Given the description of an element on the screen output the (x, y) to click on. 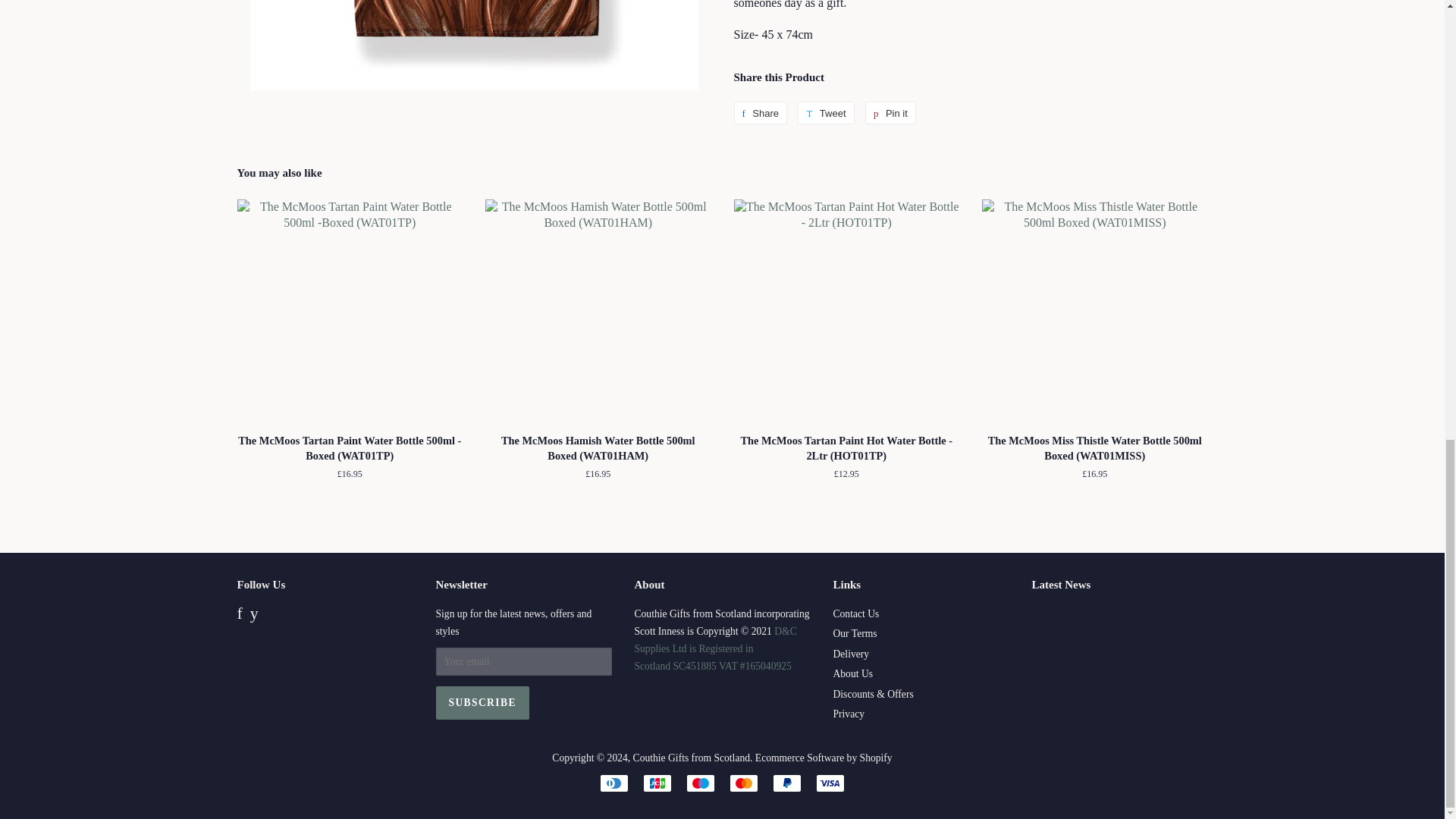
Share on Facebook (760, 112)
Mastercard (743, 782)
JCB (657, 782)
Tweet on Twitter (825, 112)
Subscribe (481, 702)
Diners Club (613, 782)
Pin on Pinterest (889, 112)
PayPal (787, 782)
Visa (829, 782)
Maestro (699, 782)
